Given the description of an element on the screen output the (x, y) to click on. 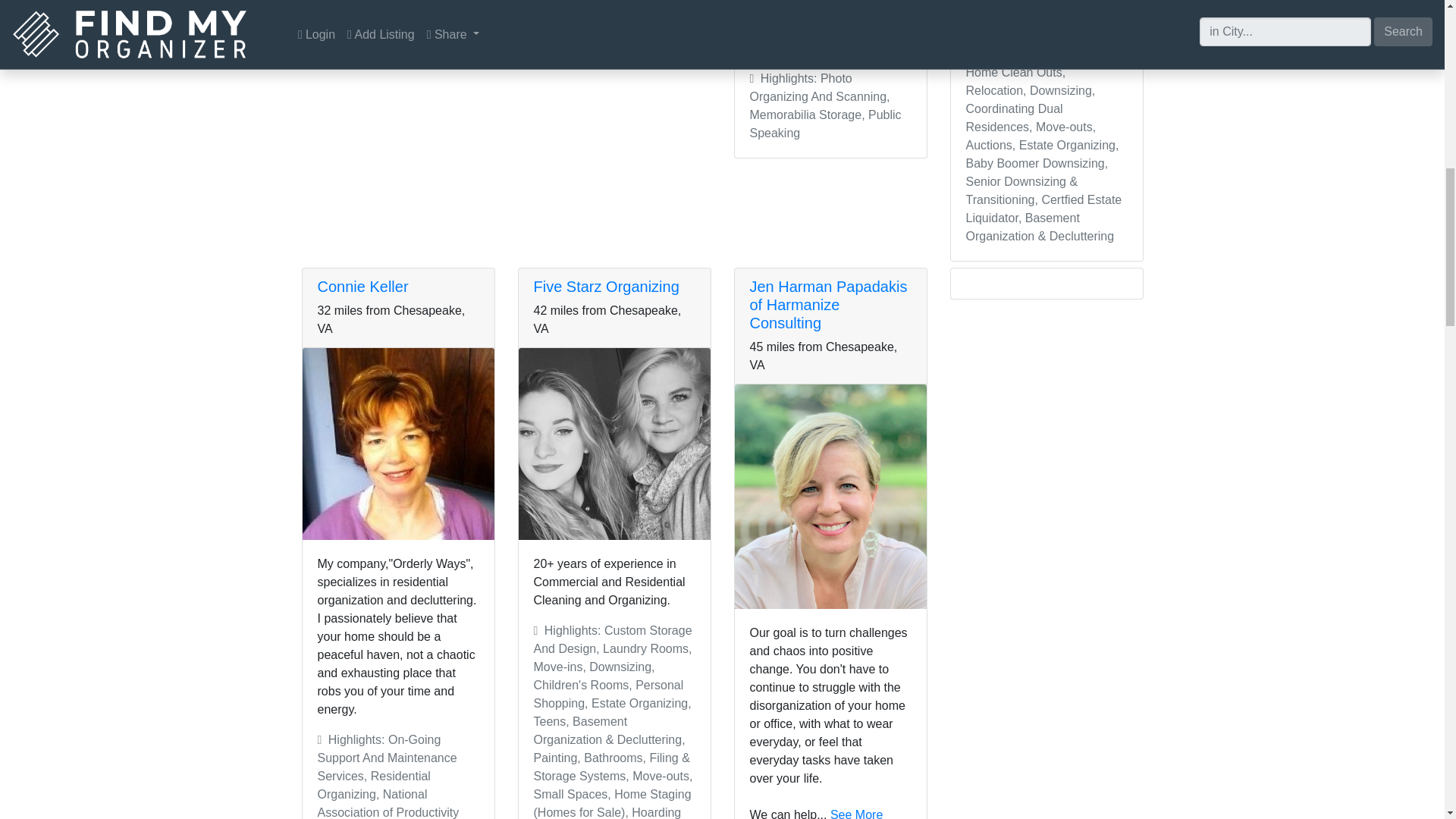
See More (855, 813)
Jen Harman Papadakis of Harmanize Consulting (828, 304)
Connie Keller (362, 286)
Five Starz Organizing (606, 286)
See More (803, 47)
